Given the description of an element on the screen output the (x, y) to click on. 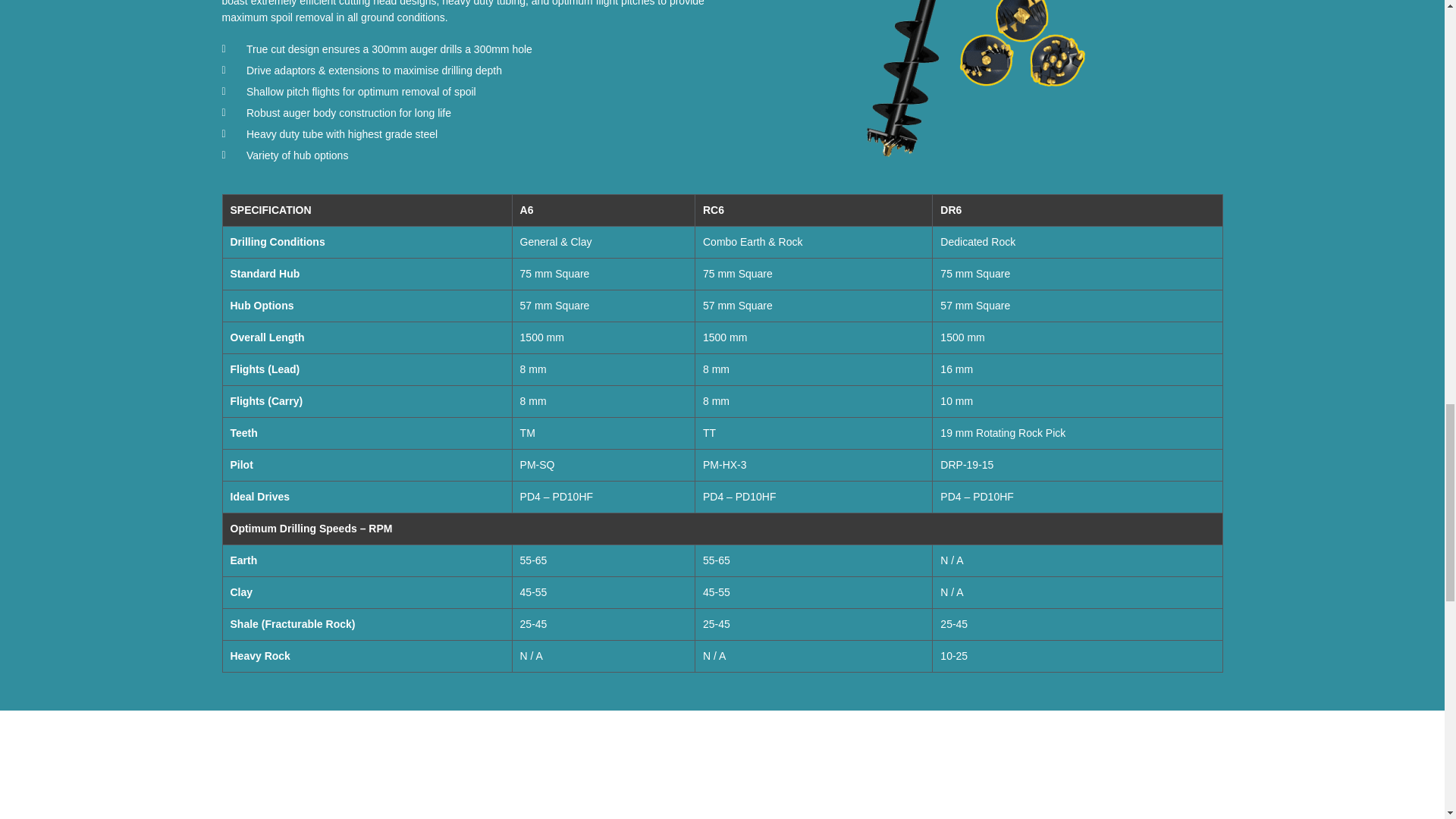
digga-6-auger-series (976, 80)
